Given the description of an element on the screen output the (x, y) to click on. 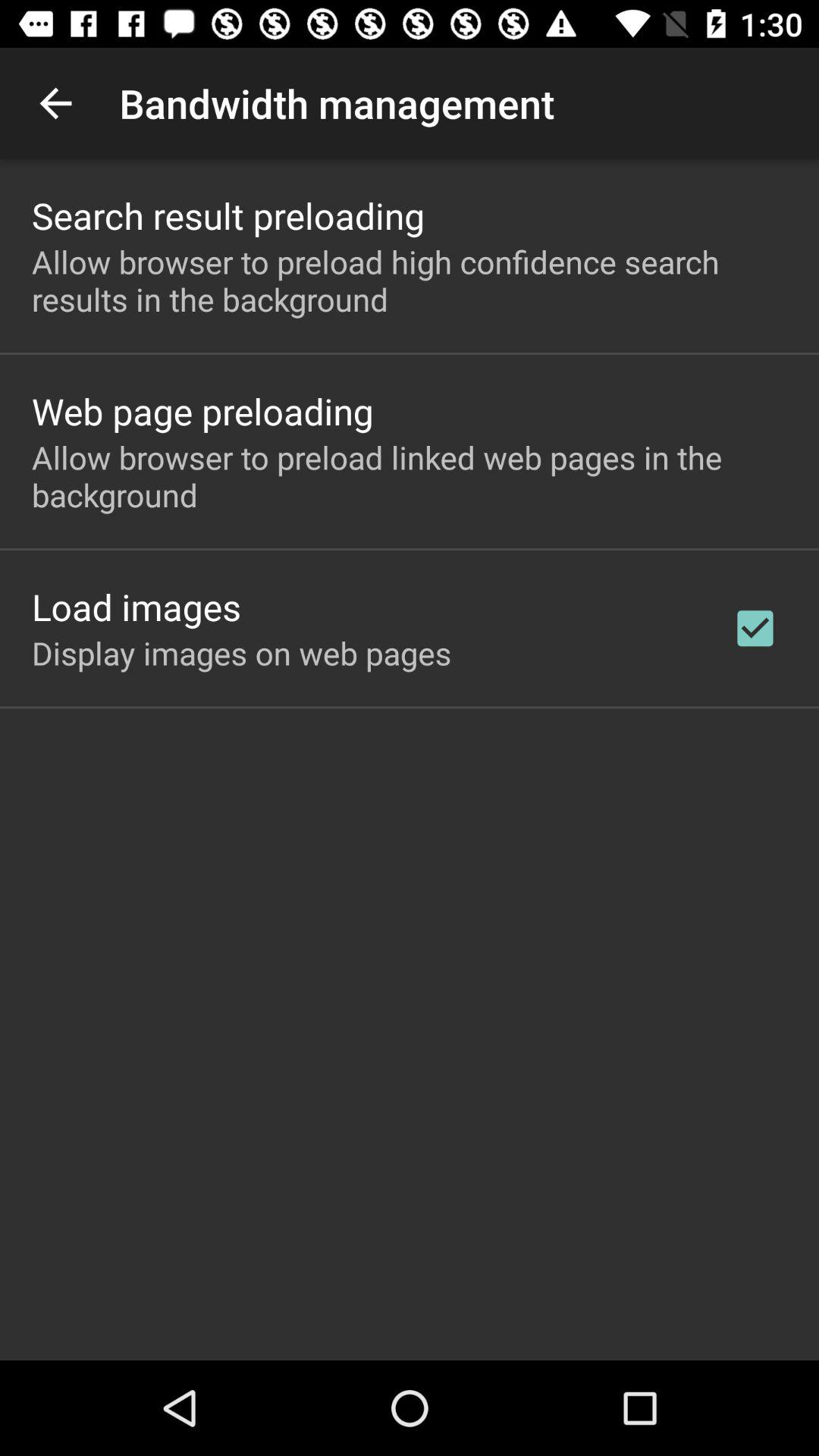
turn on the display images on icon (241, 652)
